Given the description of an element on the screen output the (x, y) to click on. 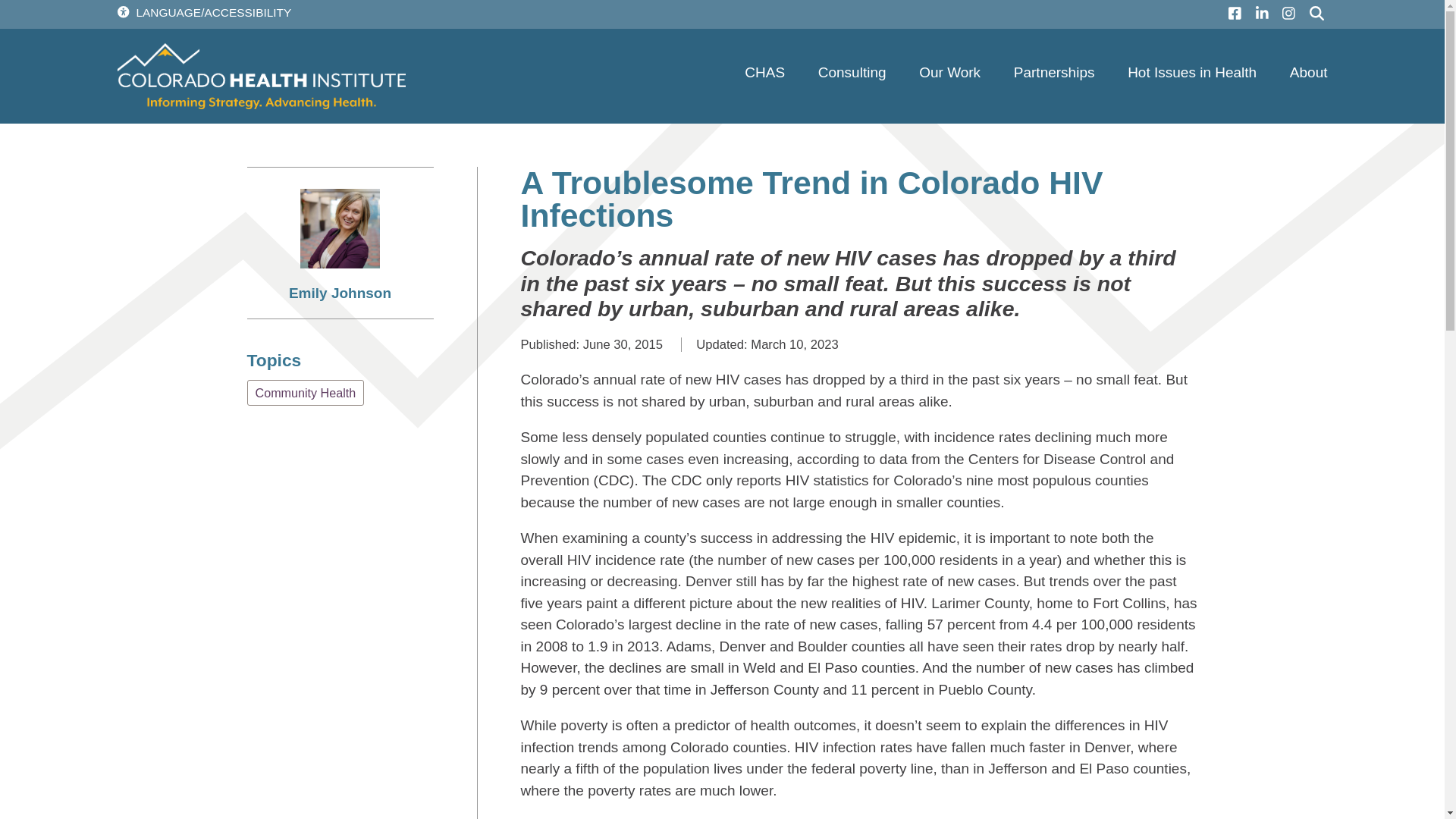
Our Work (948, 72)
Hot Issues in Health (1191, 72)
Partnerships (1053, 72)
About (1308, 72)
Emily Johnson (339, 293)
Home (260, 75)
Visit Colorado Health Institute on Facebook (1230, 14)
CHAS (764, 72)
Colorado Health Access Survey (764, 72)
Consulting (852, 72)
